Given the description of an element on the screen output the (x, y) to click on. 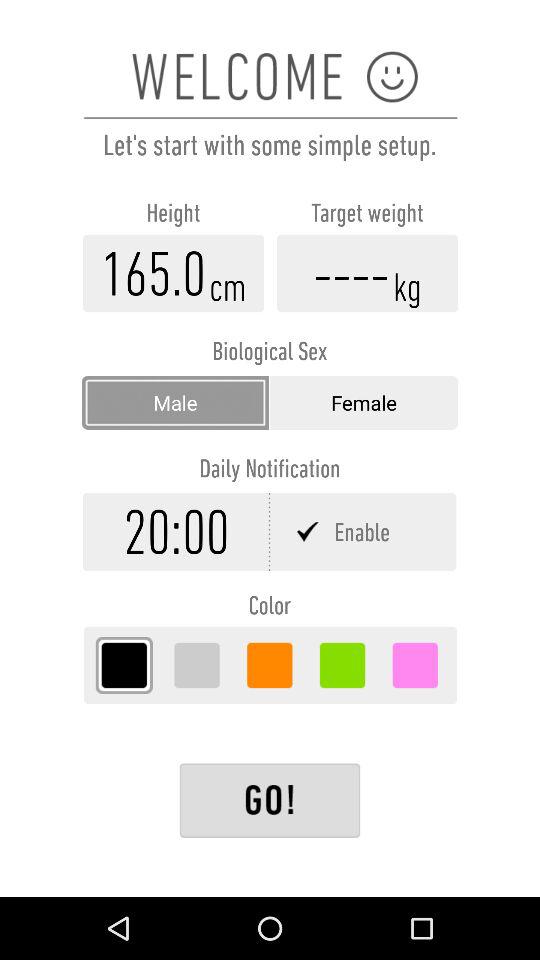
choose color scheme (196, 665)
